Given the description of an element on the screen output the (x, y) to click on. 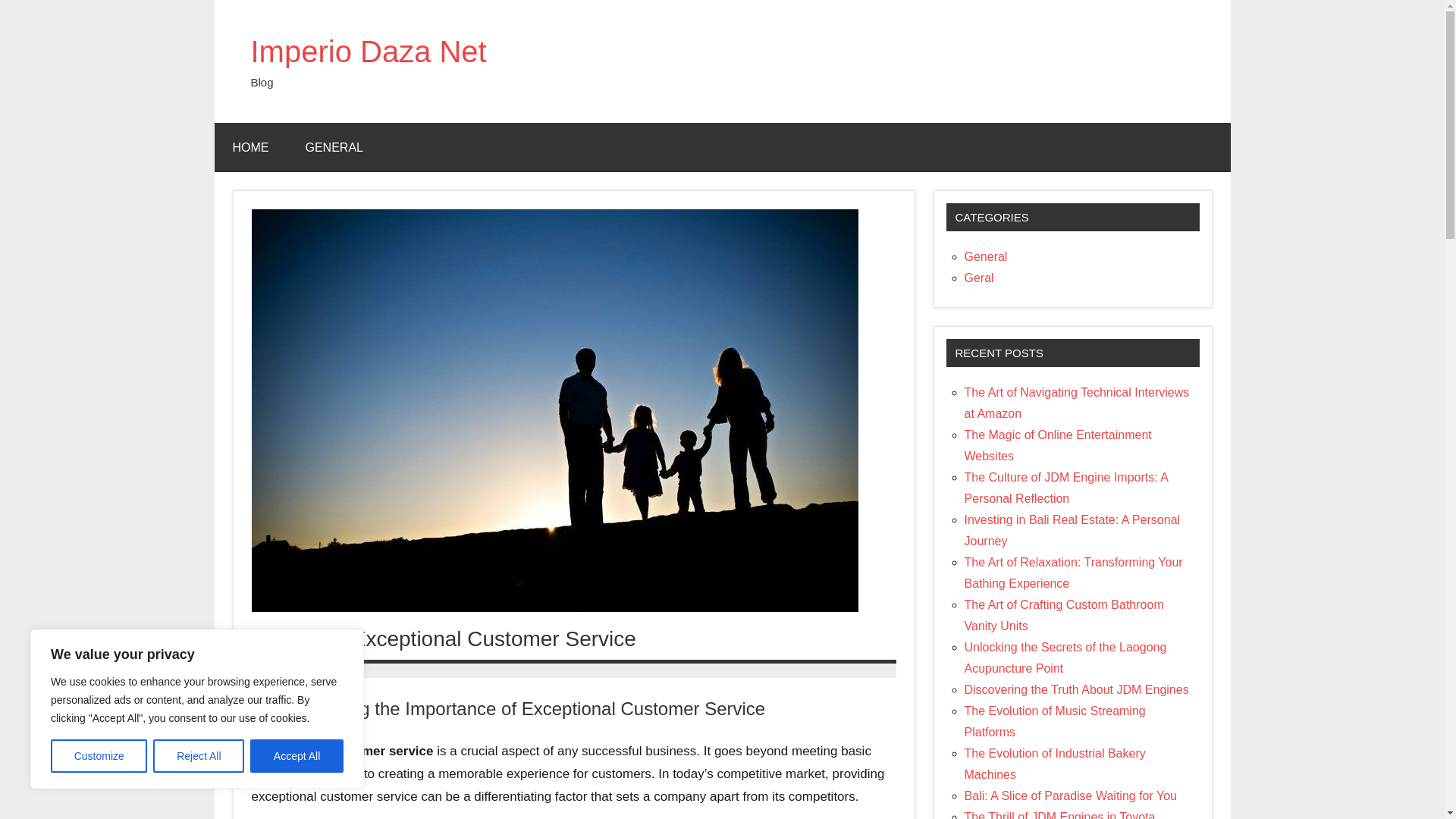
The Magic of Online Entertainment Websites (1057, 445)
Unlocking the Secrets of the Laogong Acupuncture Point (1065, 657)
HOME (250, 146)
The Culture of JDM Engine Imports: A Personal Reflection (1066, 487)
The Art of Navigating Technical Interviews at Amazon (1076, 402)
Customize (98, 756)
Investing in Bali Real Estate: A Personal Journey (1071, 530)
Geral (978, 277)
The Art of Crafting Custom Bathroom Vanity Units (1063, 615)
GENERAL (333, 146)
